Given the description of an element on the screen output the (x, y) to click on. 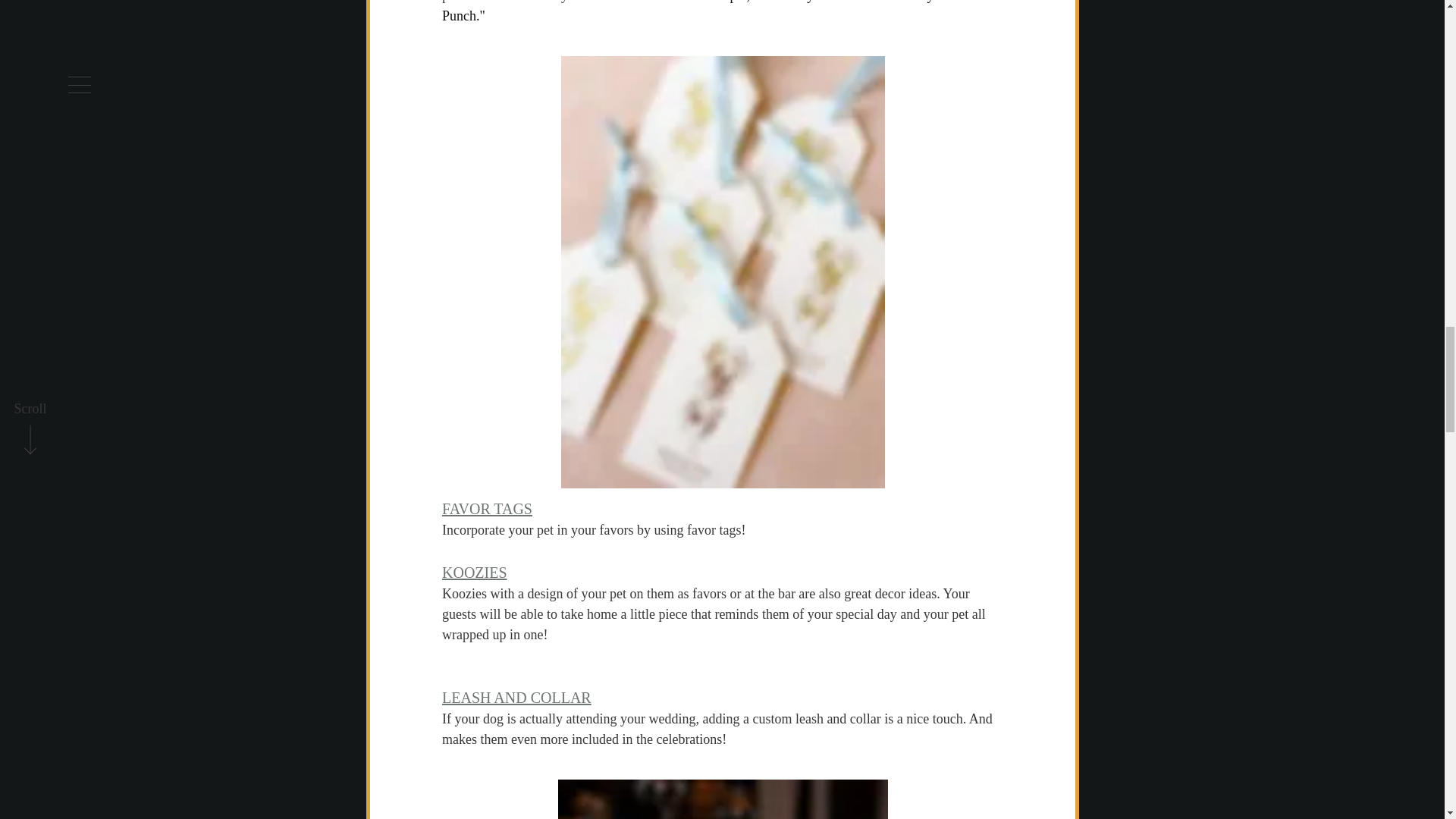
FAVOR TAGS (486, 508)
LEASH AND COLLAR (516, 697)
KOOZIES (473, 572)
